Given the description of an element on the screen output the (x, y) to click on. 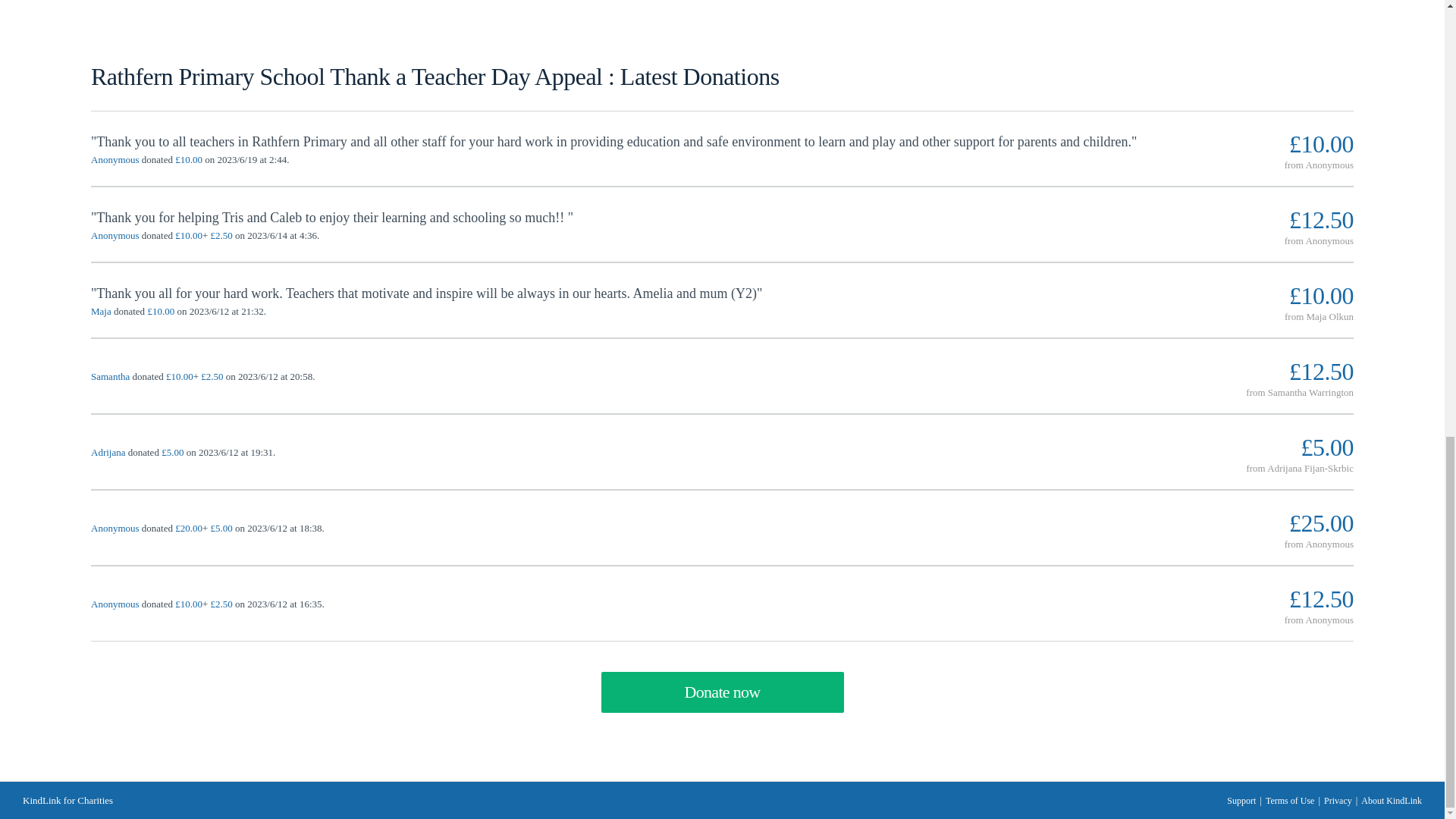
Donate now (721, 691)
Privacy (1337, 799)
About KindLink (1391, 799)
Support (1241, 799)
Terms of Use (1289, 799)
